Given the description of an element on the screen output the (x, y) to click on. 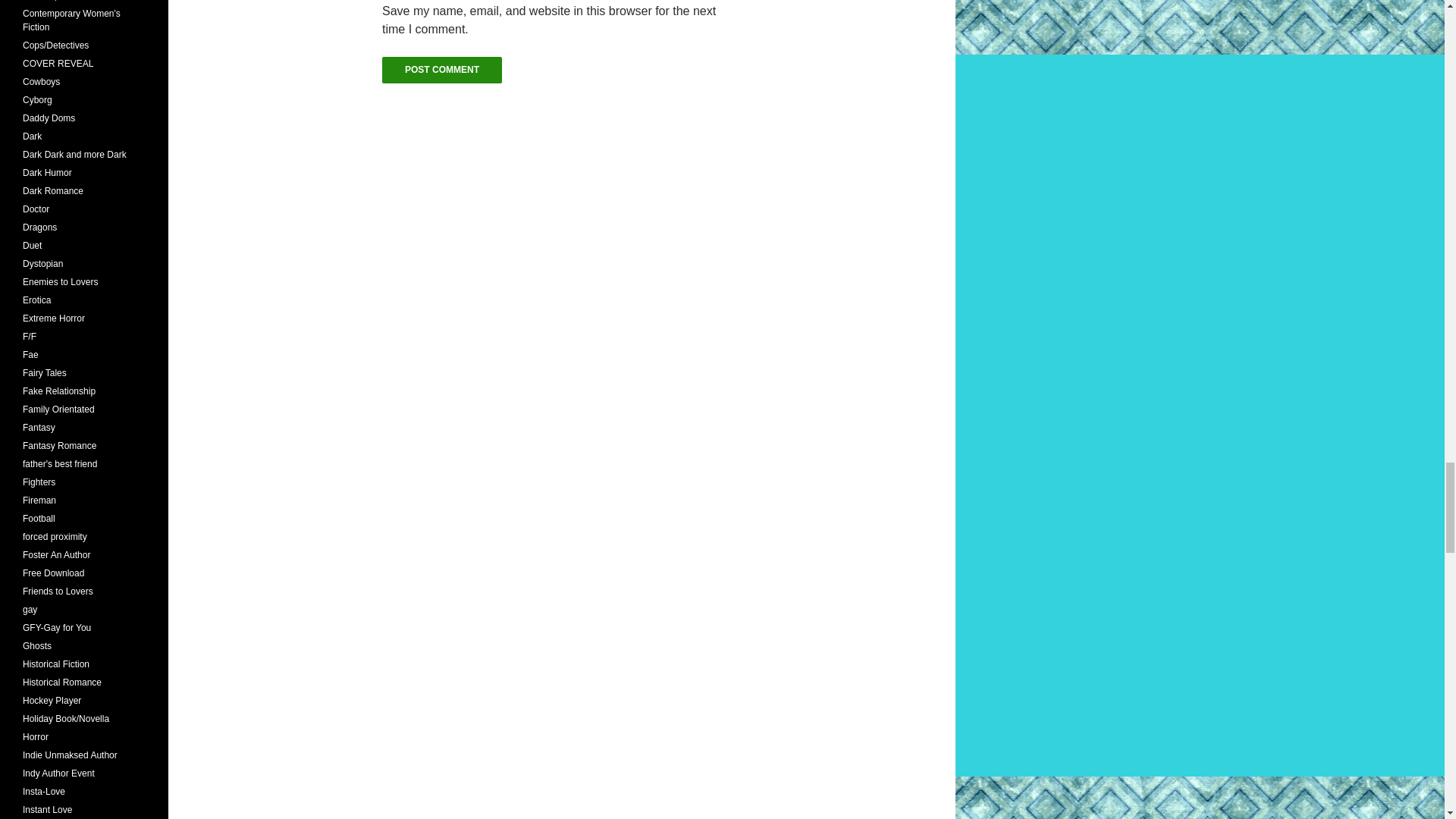
Post Comment (441, 69)
Post Comment (441, 69)
